Given the description of an element on the screen output the (x, y) to click on. 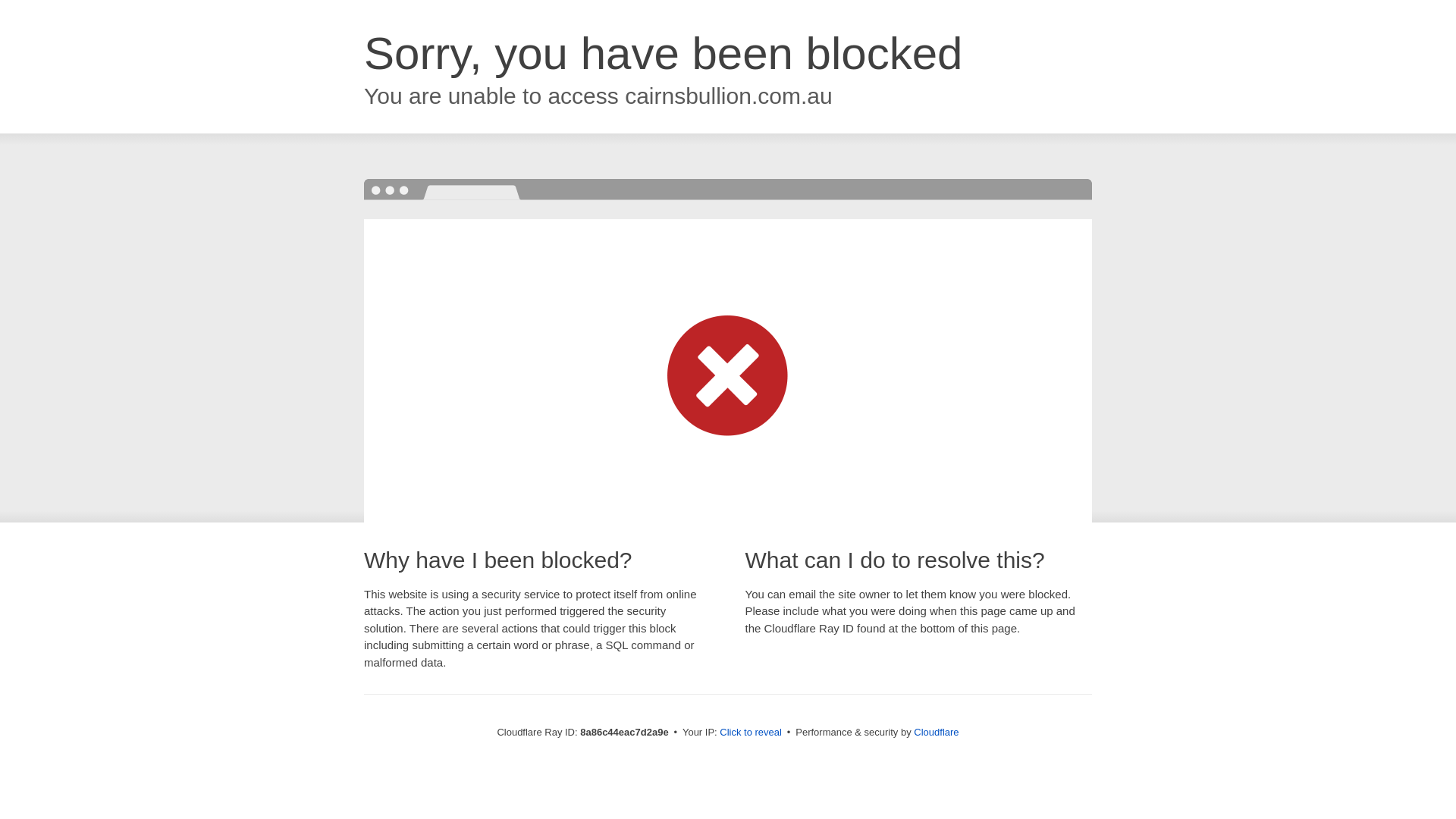
Cloudflare (936, 731)
Click to reveal (750, 732)
